Given the description of an element on the screen output the (x, y) to click on. 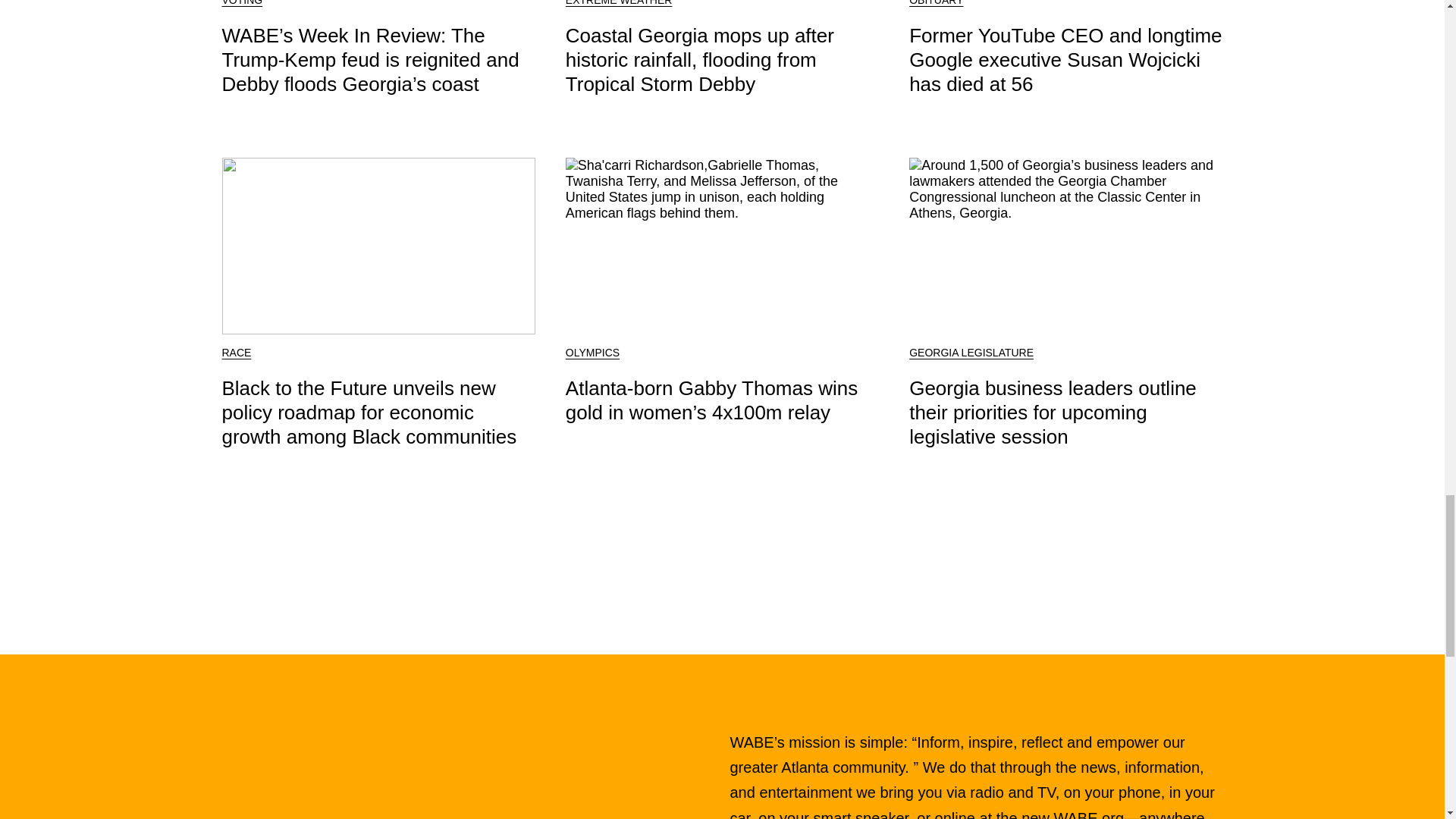
RACE (235, 352)
OBITUARY (935, 2)
OLYMPICS (593, 352)
GEORGIA LEGISLATURE (970, 352)
VOTING (241, 2)
EXTREME WEATHER (619, 2)
